Given the description of an element on the screen output the (x, y) to click on. 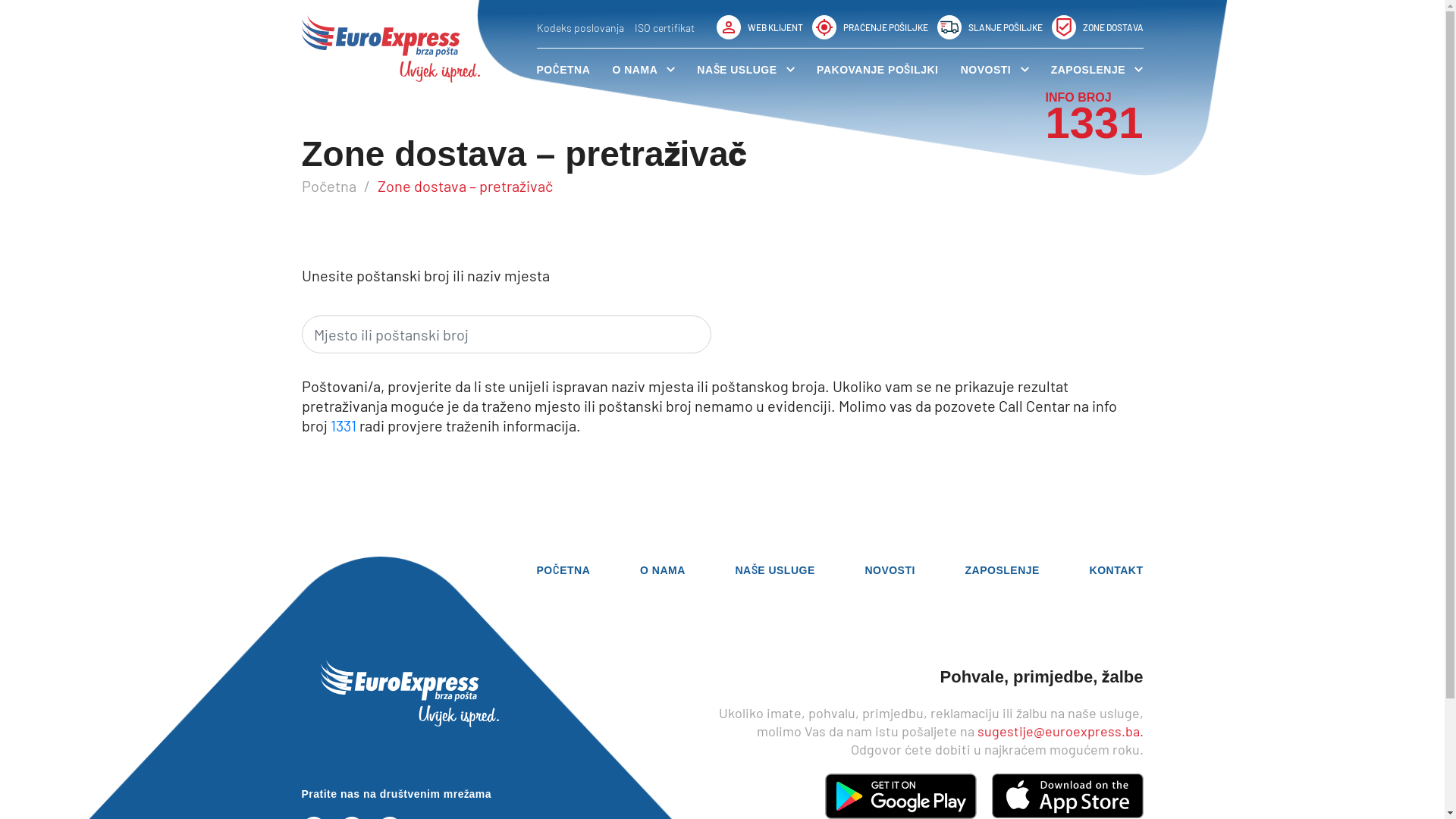
KONTAKT Element type: text (1116, 570)
ZONE DOSTAVA Element type: text (1096, 27)
NOVOSTI Element type: text (994, 69)
ISO certifikat Element type: text (663, 27)
1331 Element type: text (343, 425)
ZAPOSLENJE Element type: text (1097, 69)
Kodeks poslovanja Element type: text (580, 27)
O NAMA Element type: text (662, 570)
WEB KLIJENT Element type: text (758, 27)
O NAMA Element type: text (642, 69)
NOVOSTI Element type: text (889, 570)
ZAPOSLENJE Element type: text (1002, 570)
